Given the description of an element on the screen output the (x, y) to click on. 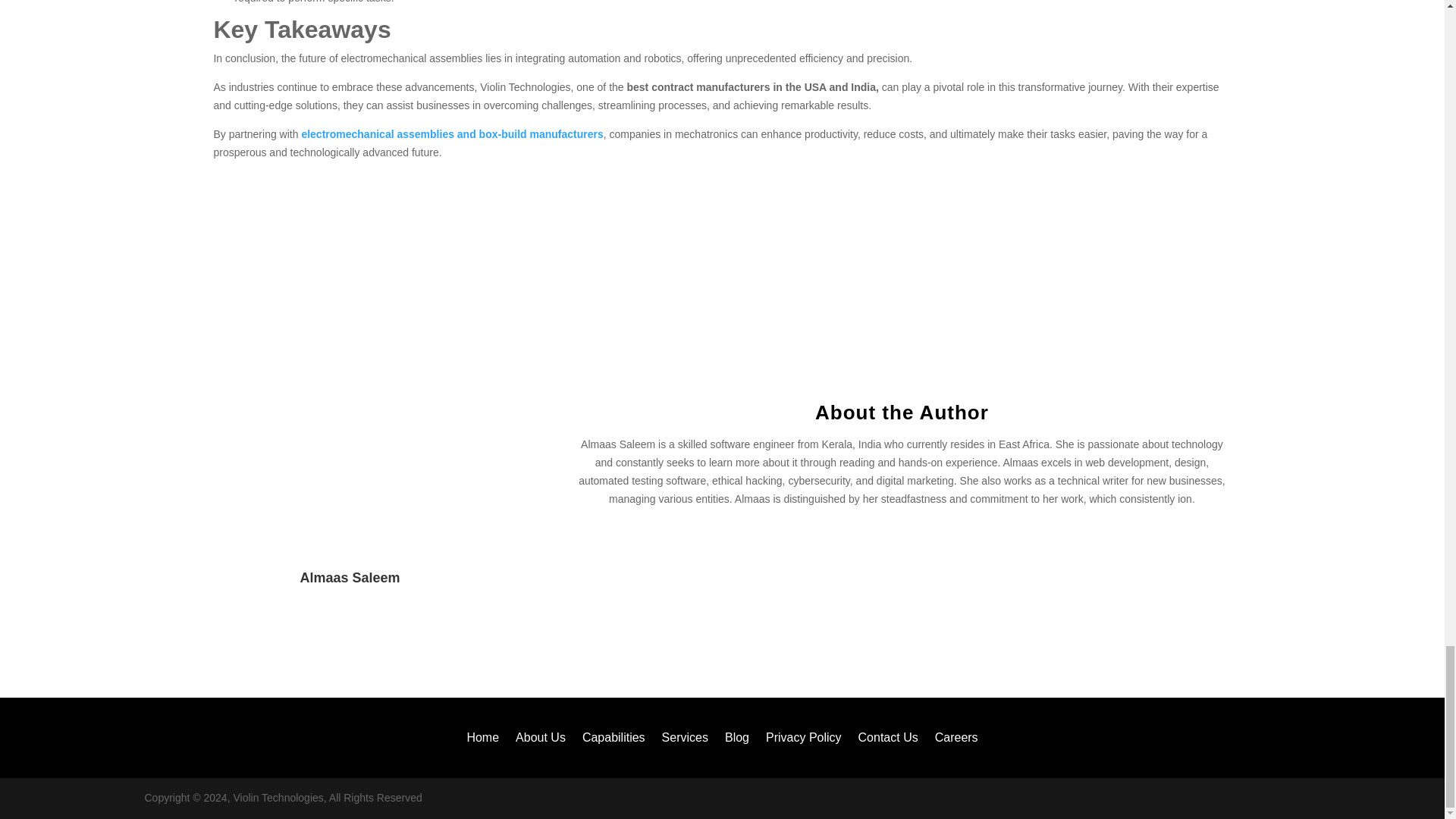
Contact Us (888, 740)
Blog (737, 740)
Capabilities (613, 740)
Services (684, 740)
Home (482, 740)
electromechanical assemblies and box-build manufacturers (451, 133)
About Us (540, 740)
Careers (956, 740)
Privacy Policy (803, 740)
